Given the description of an element on the screen output the (x, y) to click on. 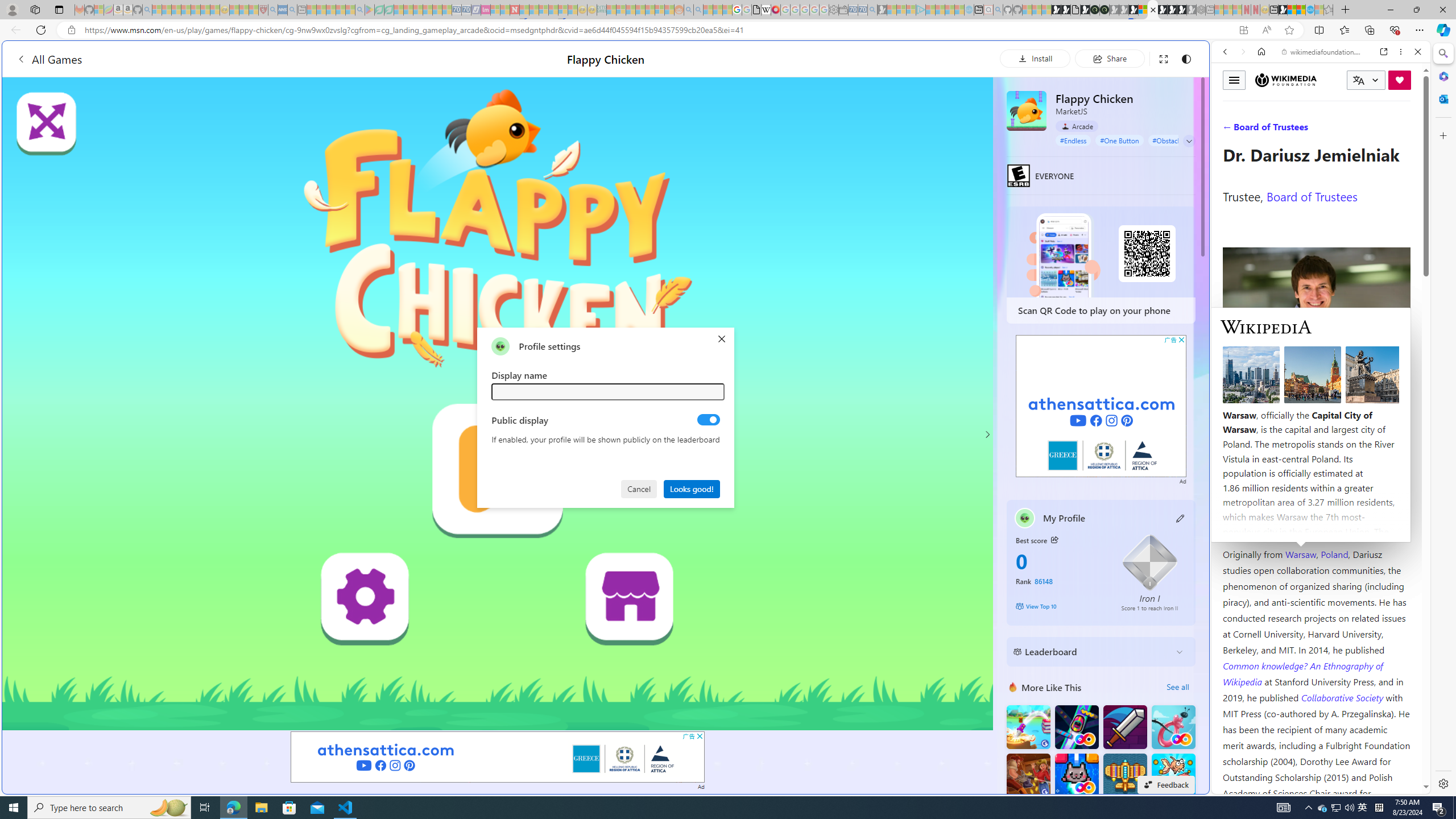
list of asthma inhalers uk - Search - Sleeping (272, 9)
Minimize (1390, 9)
Microsoft-Report a Concern to Bing - Sleeping (98, 9)
Settings - Sleeping (833, 9)
Toggle menu (1233, 80)
Personal Profile (12, 9)
Class: text-input (608, 391)
Cheap Car Rentals - Save70.com - Sleeping (862, 9)
utah sues federal government - Search - Sleeping (291, 9)
